Given the description of an element on the screen output the (x, y) to click on. 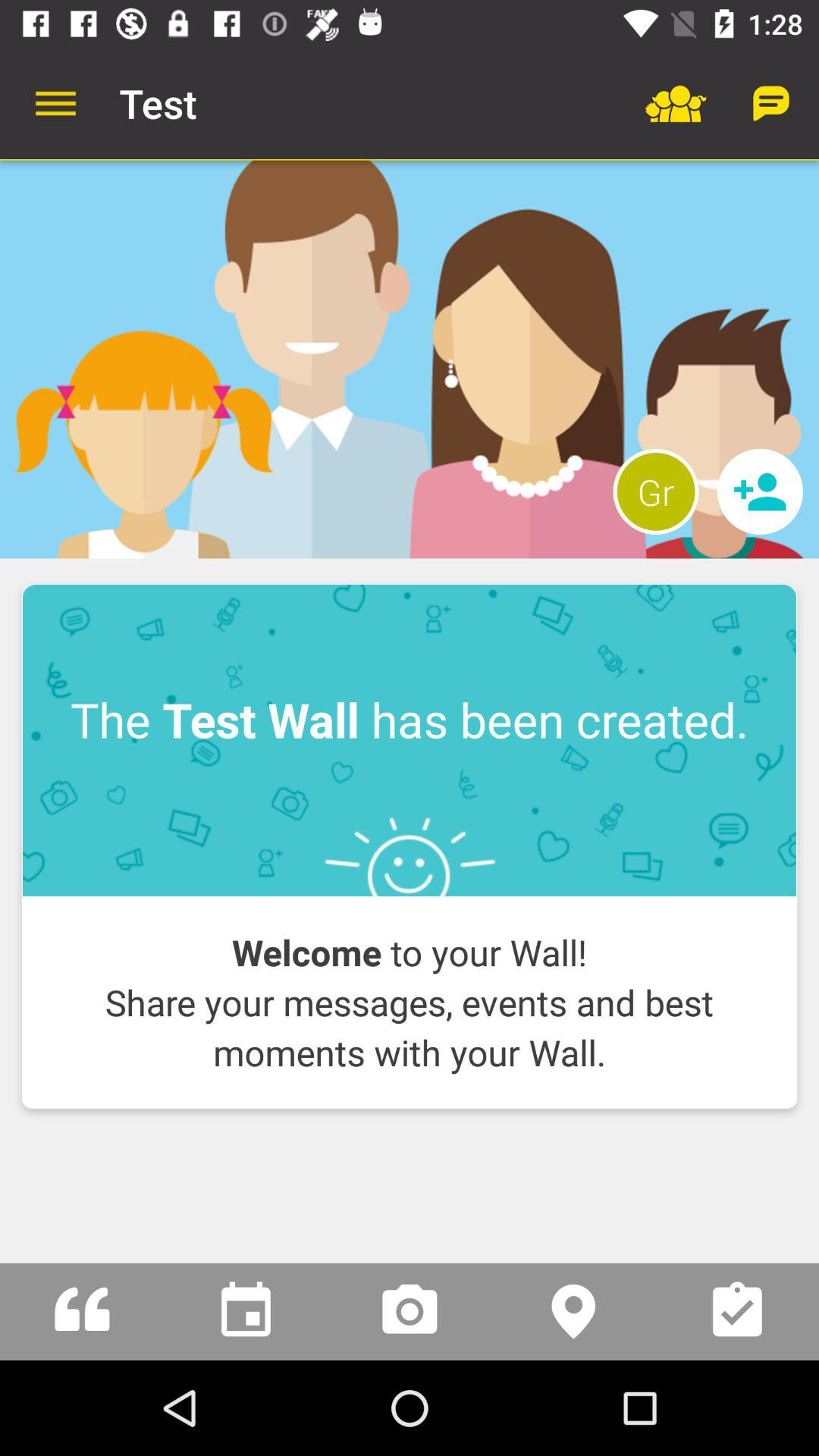
profile (409, 359)
